Given the description of an element on the screen output the (x, y) to click on. 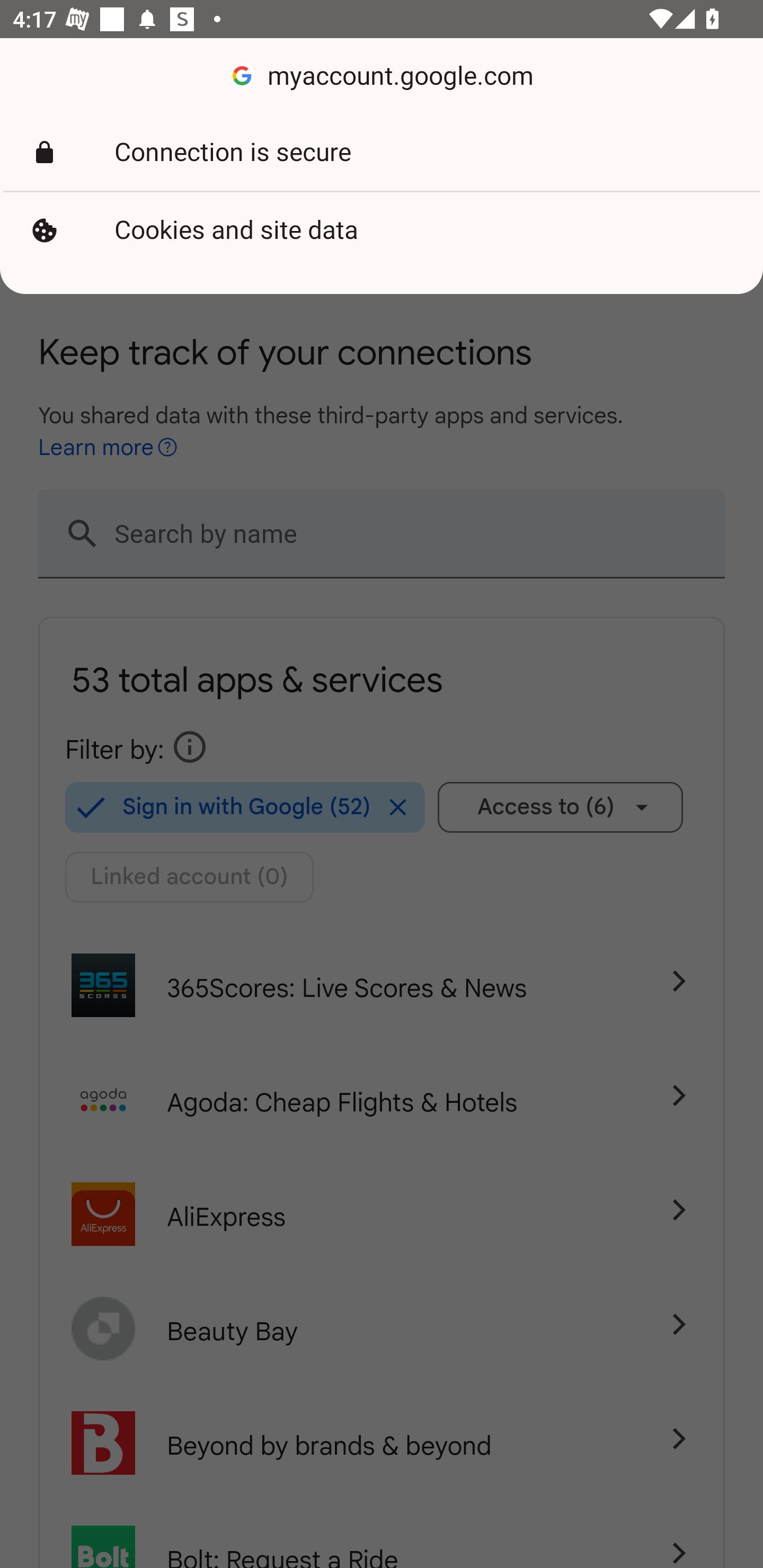
myaccount.google.com (381, 75)
Connection is secure (381, 152)
Cookies and site data (381, 230)
